Given the description of an element on the screen output the (x, y) to click on. 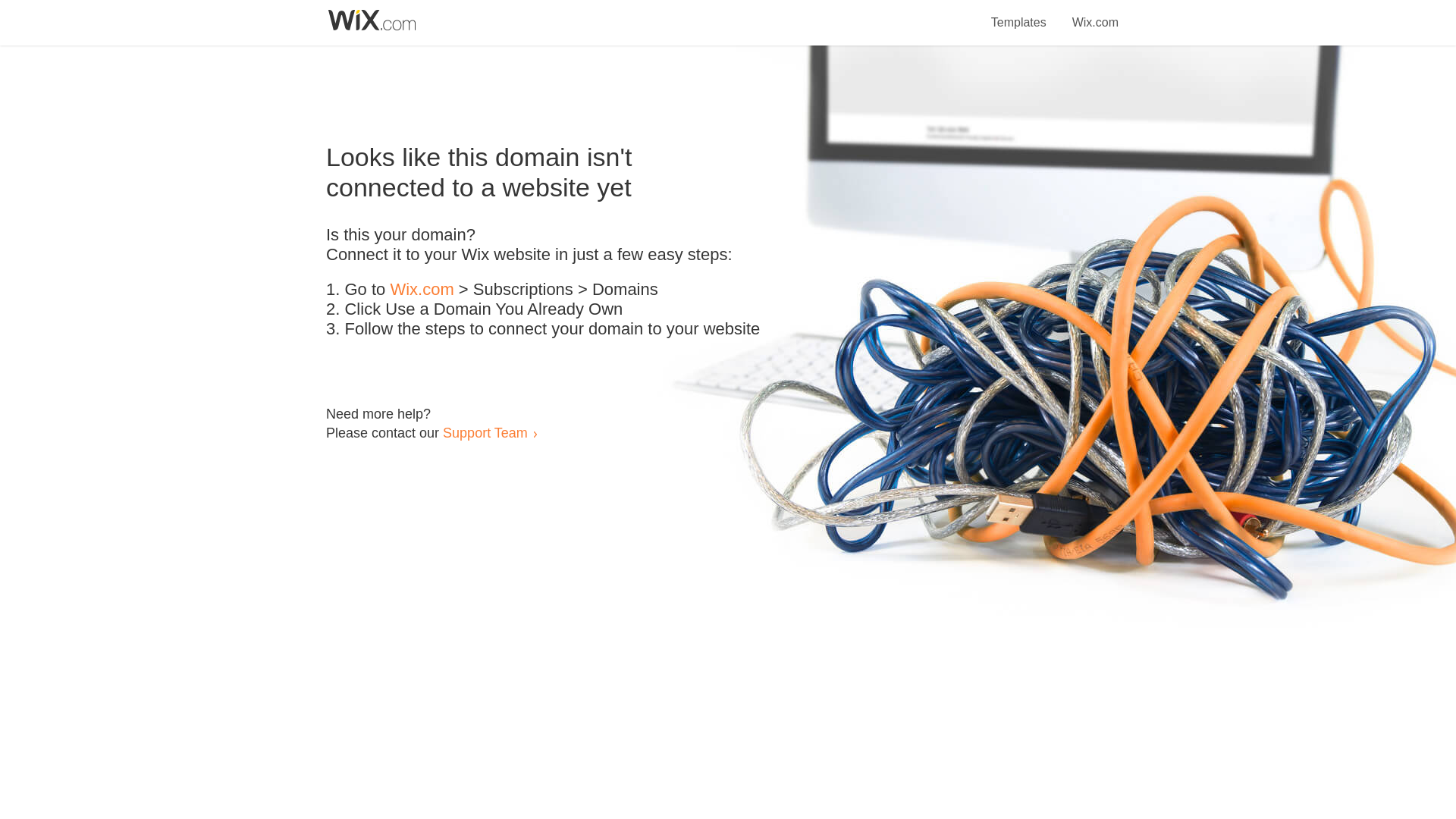
Wix.com (421, 289)
Support Team (484, 432)
Wix.com (1095, 14)
Templates (1018, 14)
